Given the description of an element on the screen output the (x, y) to click on. 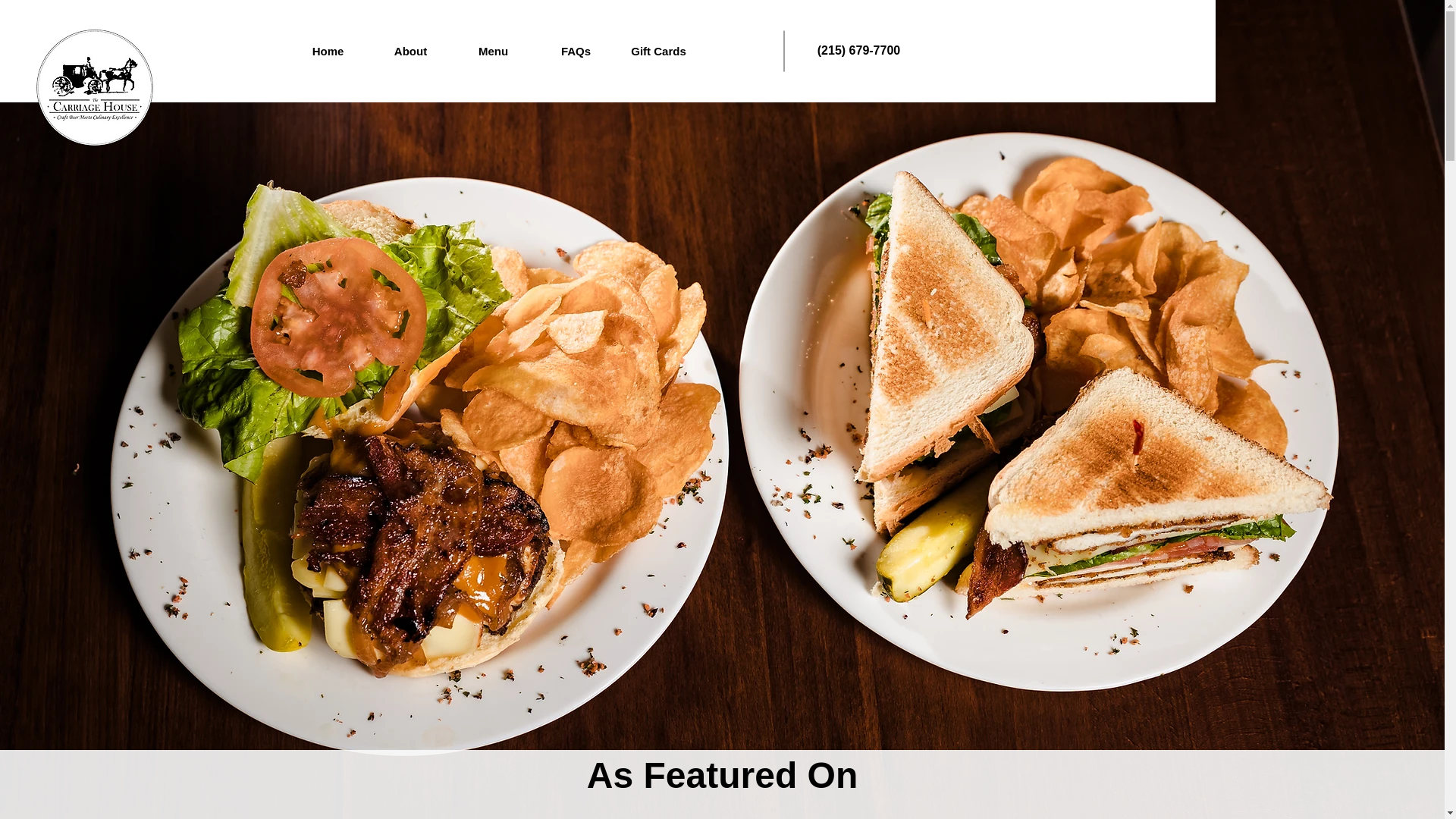
Menu (492, 50)
Home (327, 50)
Gift Cards (658, 50)
About (409, 50)
FAQs (574, 50)
